Given the description of an element on the screen output the (x, y) to click on. 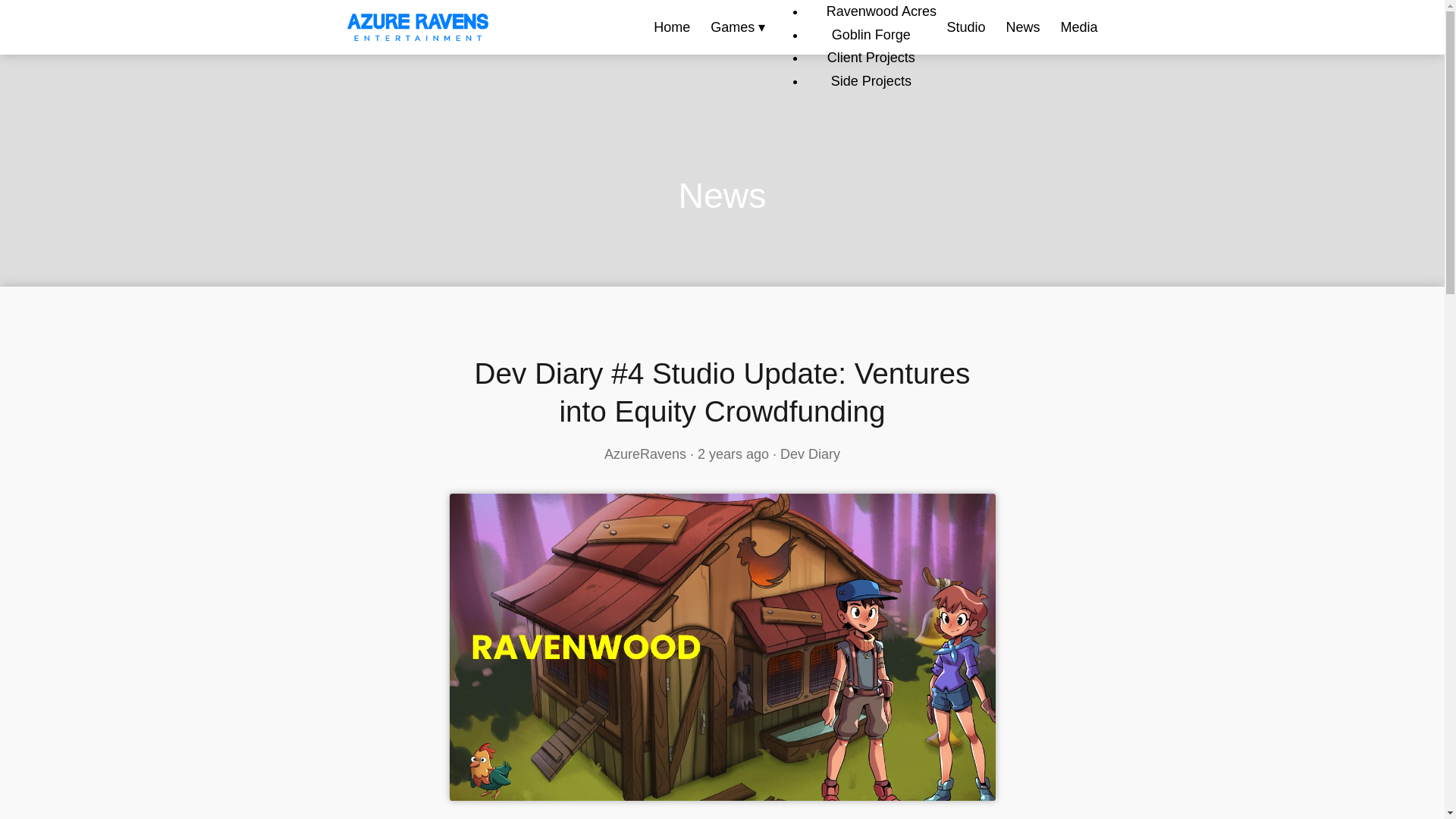
Goblin Forge (871, 34)
Client Projects (871, 57)
Side Projects (871, 80)
Dev Diary (810, 453)
Ravenwood Acres (881, 11)
